Given the description of an element on the screen output the (x, y) to click on. 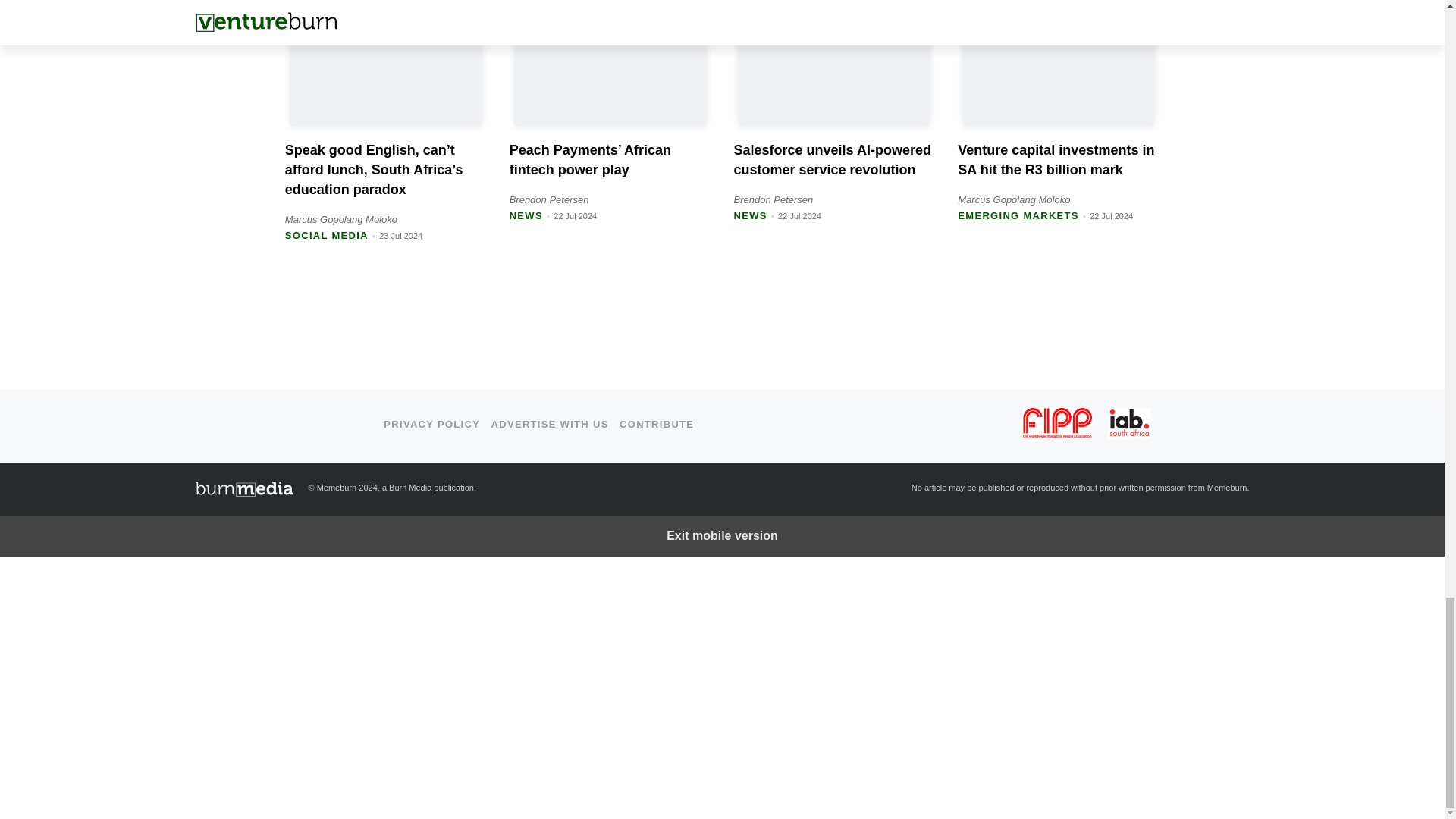
23 Jul 2024 (400, 235)
Brendon Petersen (549, 199)
Marcus Gopolang Moloko (341, 219)
Brendon Petersen (772, 199)
Marcus Gopolang Moloko (1014, 199)
22 Jul 2024 (799, 215)
Venture capital investments in SA hit the R3 billion mark (1056, 159)
NEWS (750, 215)
22 Jul 2024 (574, 215)
Salesforce unveils AI-powered customer service revolution (831, 159)
SOCIAL MEDIA (326, 235)
NEWS (526, 215)
